Given the description of an element on the screen output the (x, y) to click on. 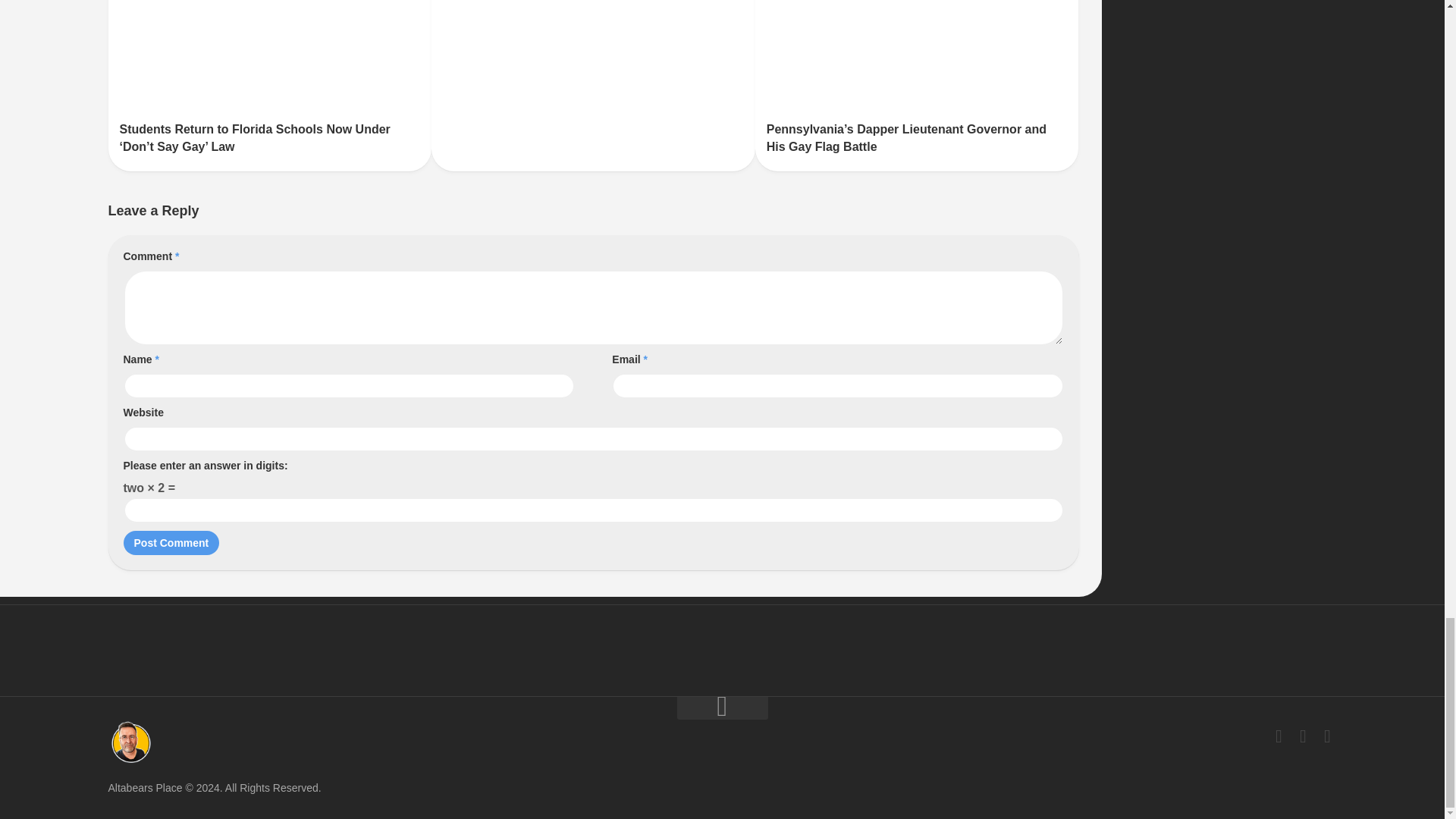
Twitter (1302, 736)
Facebook (1278, 736)
Post Comment (170, 542)
Instagram (1326, 736)
